Given the description of an element on the screen output the (x, y) to click on. 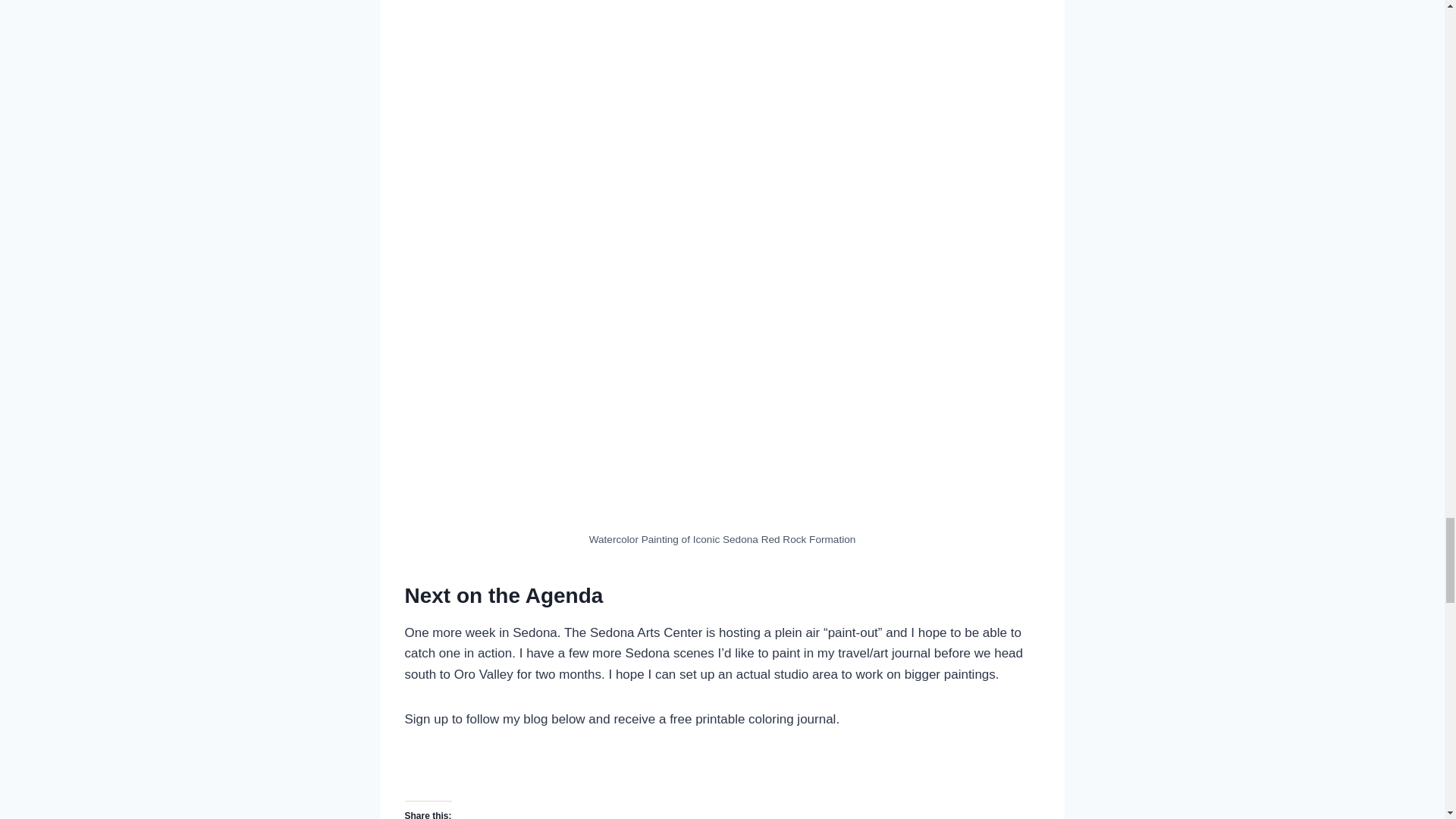
Share on Facebook (421, 776)
Share on Twitter (462, 776)
Share on Linkedin (501, 776)
Share on Pinterest (542, 776)
